Given the description of an element on the screen output the (x, y) to click on. 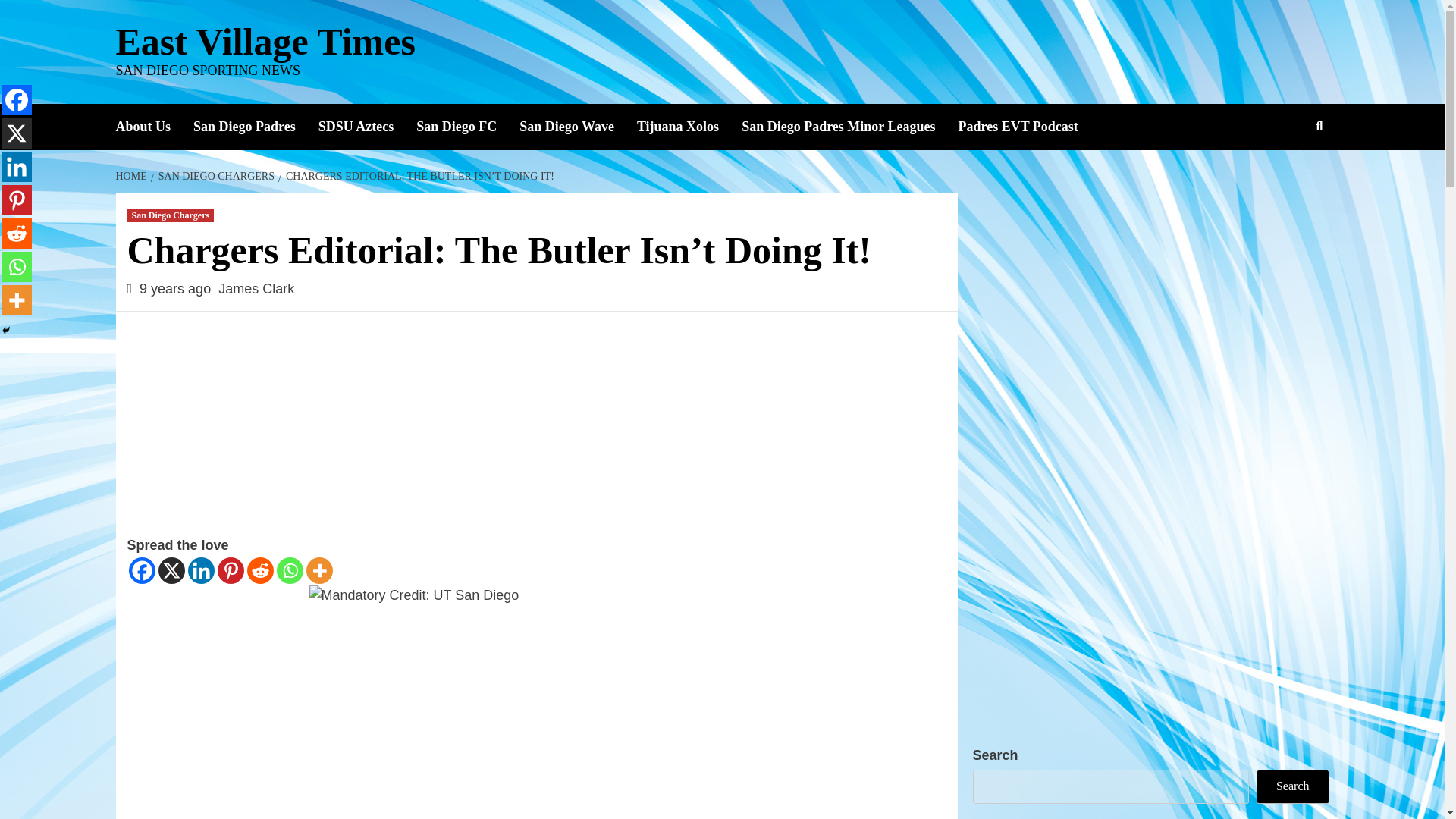
San Diego Padres Minor Leagues (849, 126)
Reddit (260, 570)
Facebook (16, 100)
SAN DIEGO CHARGERS (214, 175)
More (319, 570)
Facebook (142, 570)
San Diego Padres (255, 126)
Linkedin (16, 166)
San Diego Chargers (171, 214)
Whatsapp (16, 266)
HOME (132, 175)
Tijuana Xolos (689, 126)
Whatsapp (289, 570)
X (170, 570)
